Given the description of an element on the screen output the (x, y) to click on. 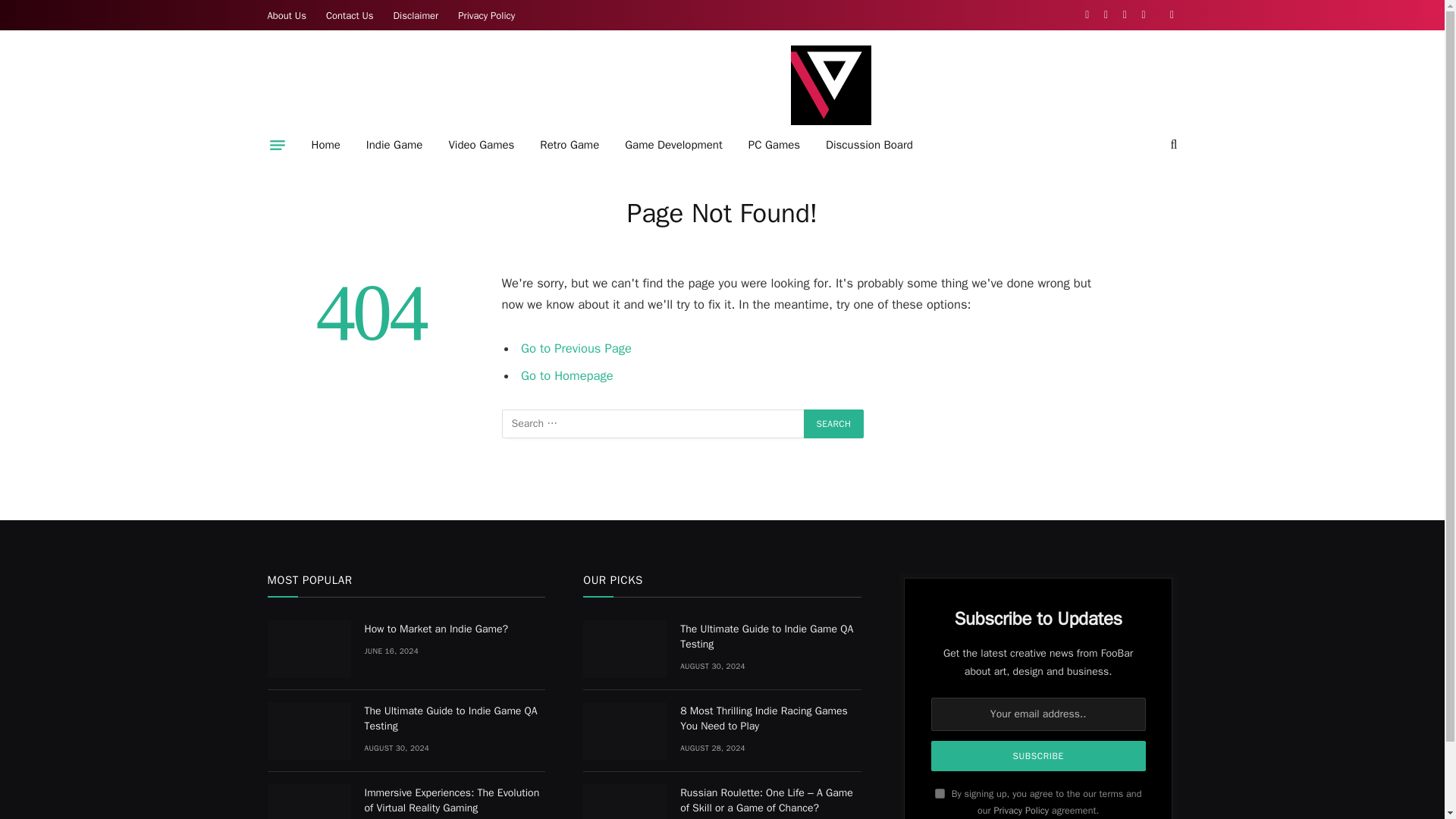
Indie Game (394, 144)
Privacy Policy (486, 15)
How to Market an Indie Game? (454, 629)
PC Games (773, 144)
How to Market an Indie Game? (308, 648)
Game Development (673, 144)
Retro Game (569, 144)
Home (325, 144)
on (939, 793)
Subscribe (1038, 756)
